Given the description of an element on the screen output the (x, y) to click on. 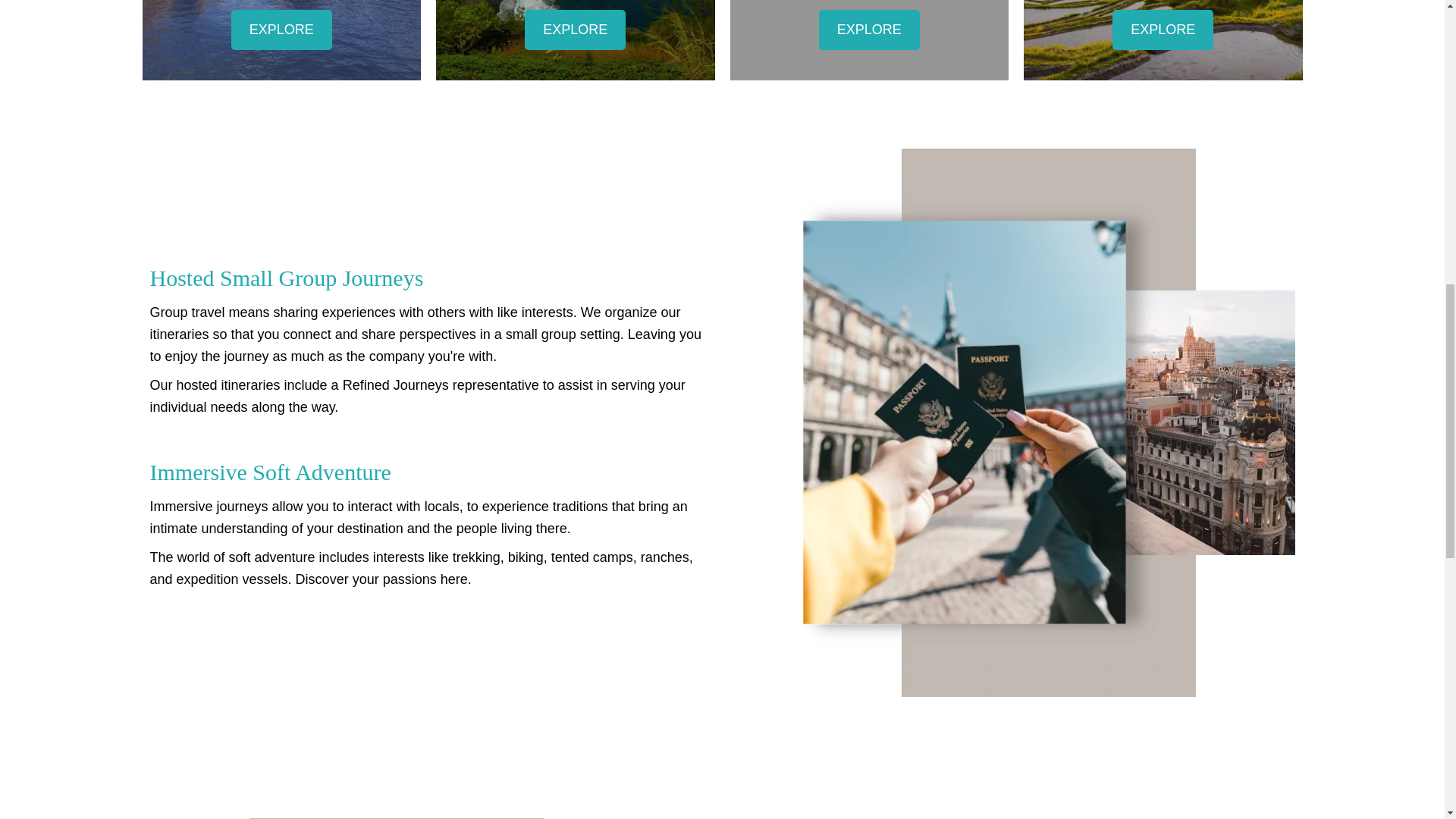
EXPLORE (281, 29)
